Given the description of an element on the screen output the (x, y) to click on. 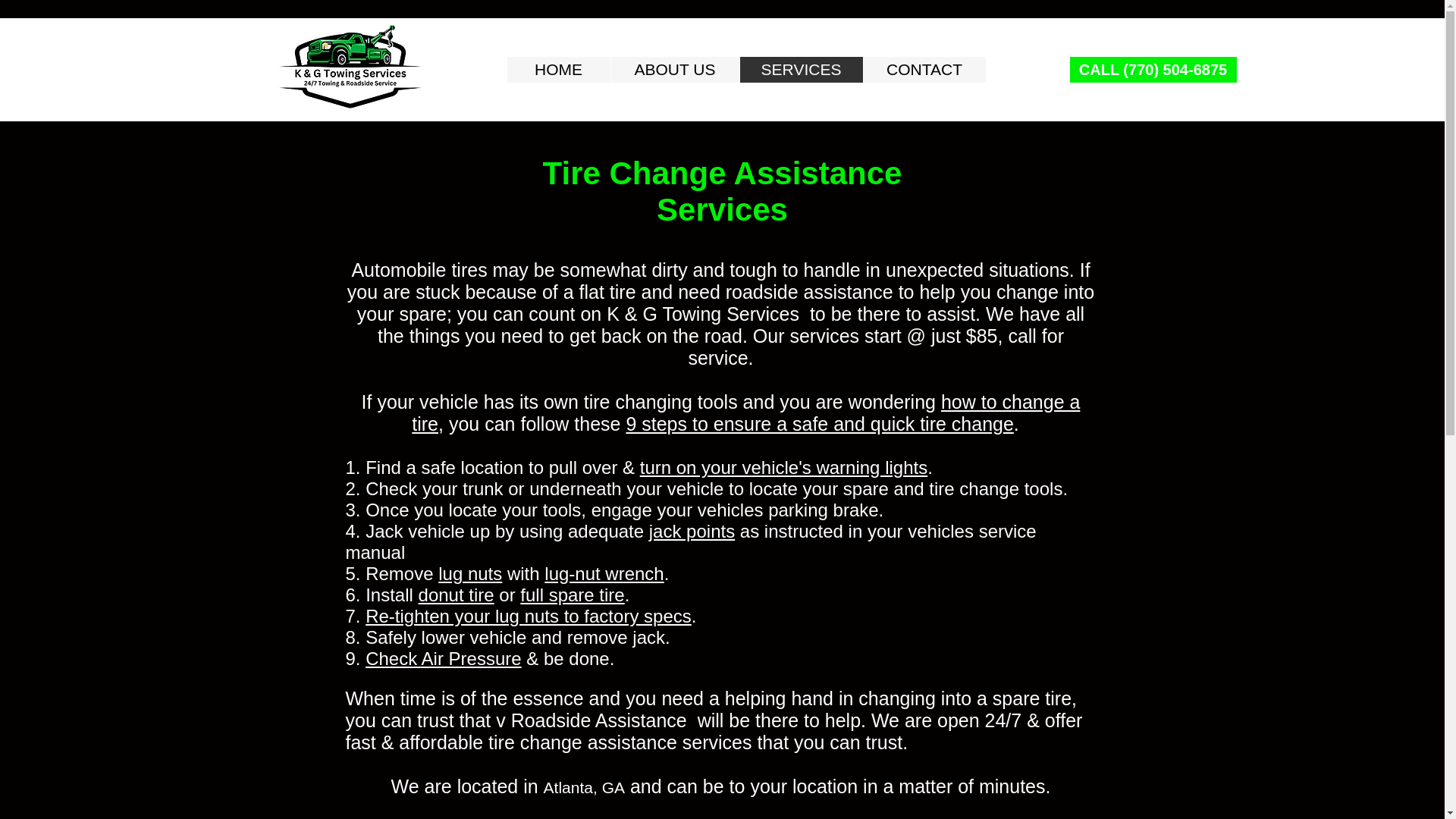
SERVICES (799, 69)
ABOUT US (674, 69)
HOME (558, 69)
donut tire (457, 594)
turn on your vehicle's warning lights (783, 467)
Re-tighten your lug nuts to factory specs (528, 616)
lug-nut wrench (603, 573)
Check Air Pressure (443, 658)
lug nuts (470, 573)
jack points (692, 530)
CONTACT (924, 69)
how to change a tire (746, 412)
9 steps to ensure a safe and quick tire change (819, 423)
full spare tire (571, 594)
